Given the description of an element on the screen output the (x, y) to click on. 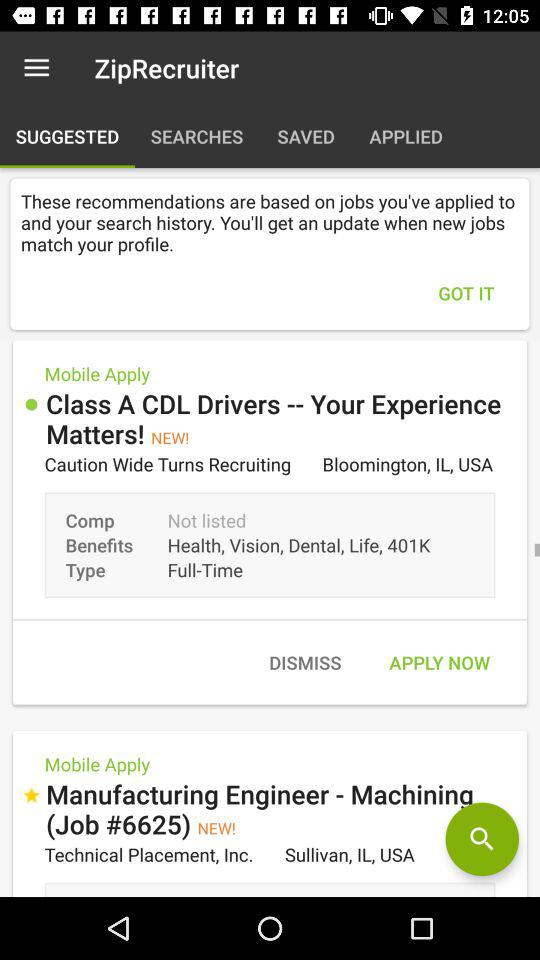
flip to the apply now item (439, 662)
